Given the description of an element on the screen output the (x, y) to click on. 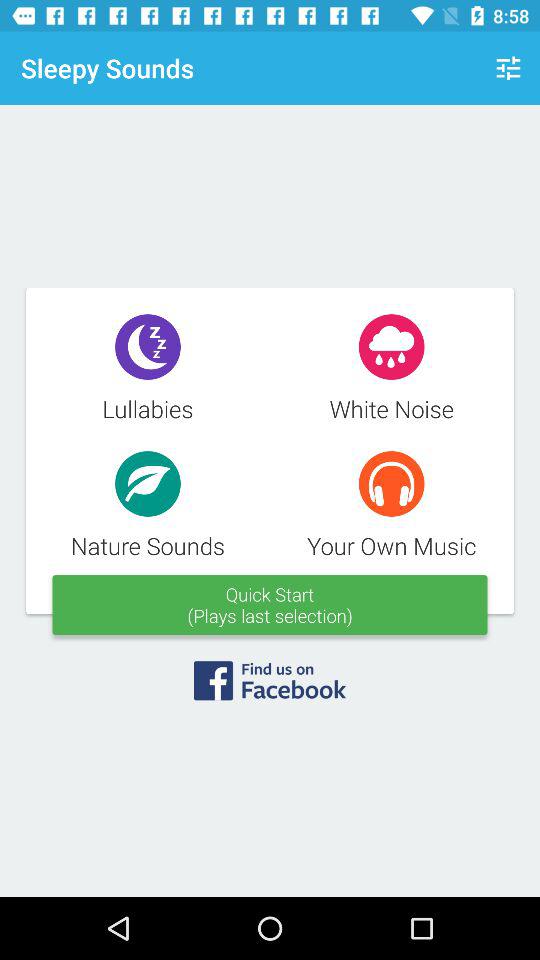
open icon at the top right corner (508, 67)
